Given the description of an element on the screen output the (x, y) to click on. 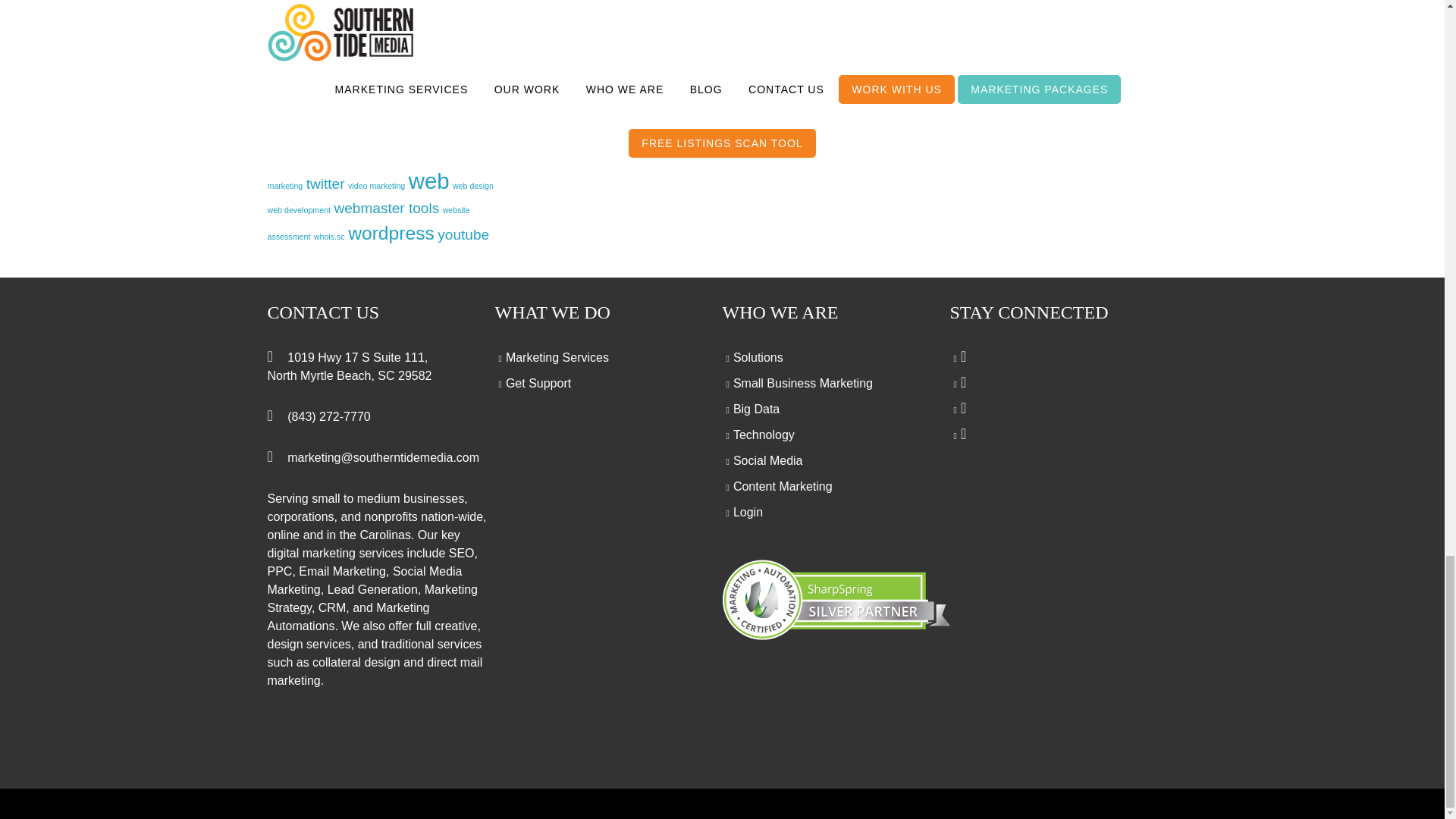
Digital Marketing (1020, 76)
Southern Tide Media (790, 76)
